Given the description of an element on the screen output the (x, y) to click on. 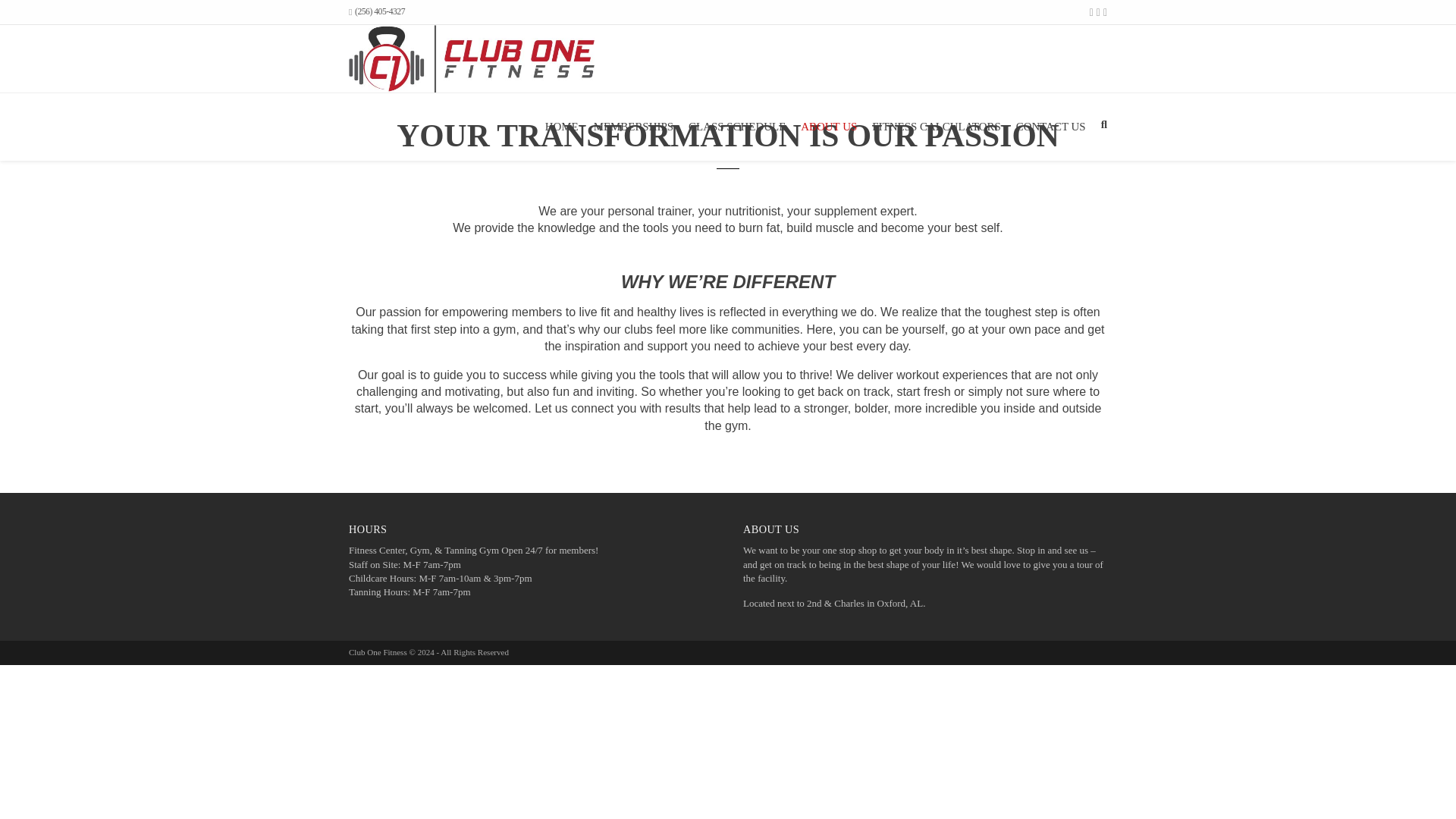
ABOUT US (828, 126)
FITNESS CALCULATORS (935, 126)
CONTACT US (1051, 126)
CLASS SCHEDULE (737, 126)
MEMBERSHIPS (633, 126)
Club One Fitness (471, 58)
